Given the description of an element on the screen output the (x, y) to click on. 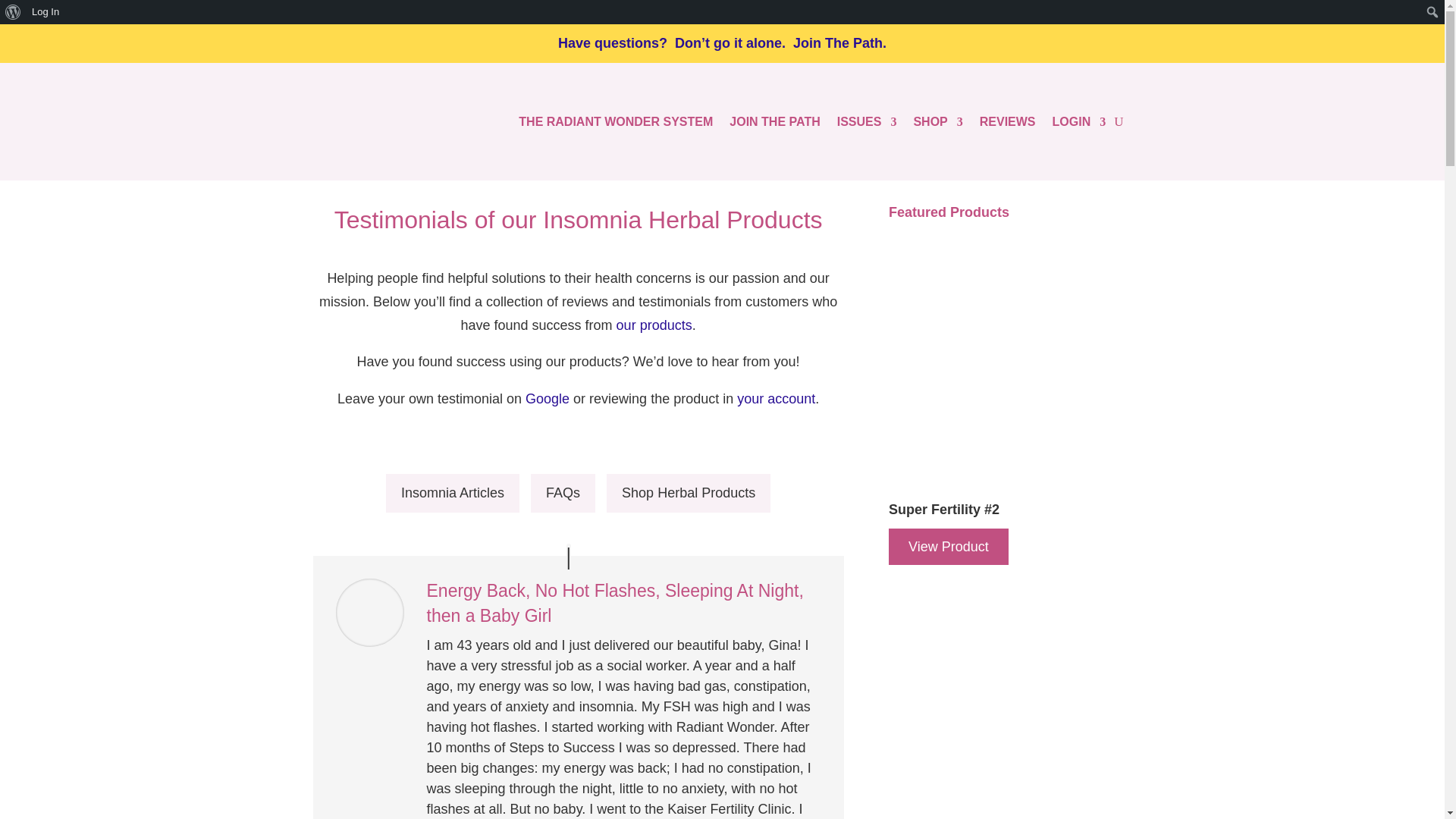
REVIEWS (1007, 122)
SHOP (937, 122)
JOIN THE PATH (774, 122)
THE RADIANT WONDER SYSTEM (615, 122)
ISSUES (866, 122)
LOGIN (1079, 122)
